Given the description of an element on the screen output the (x, y) to click on. 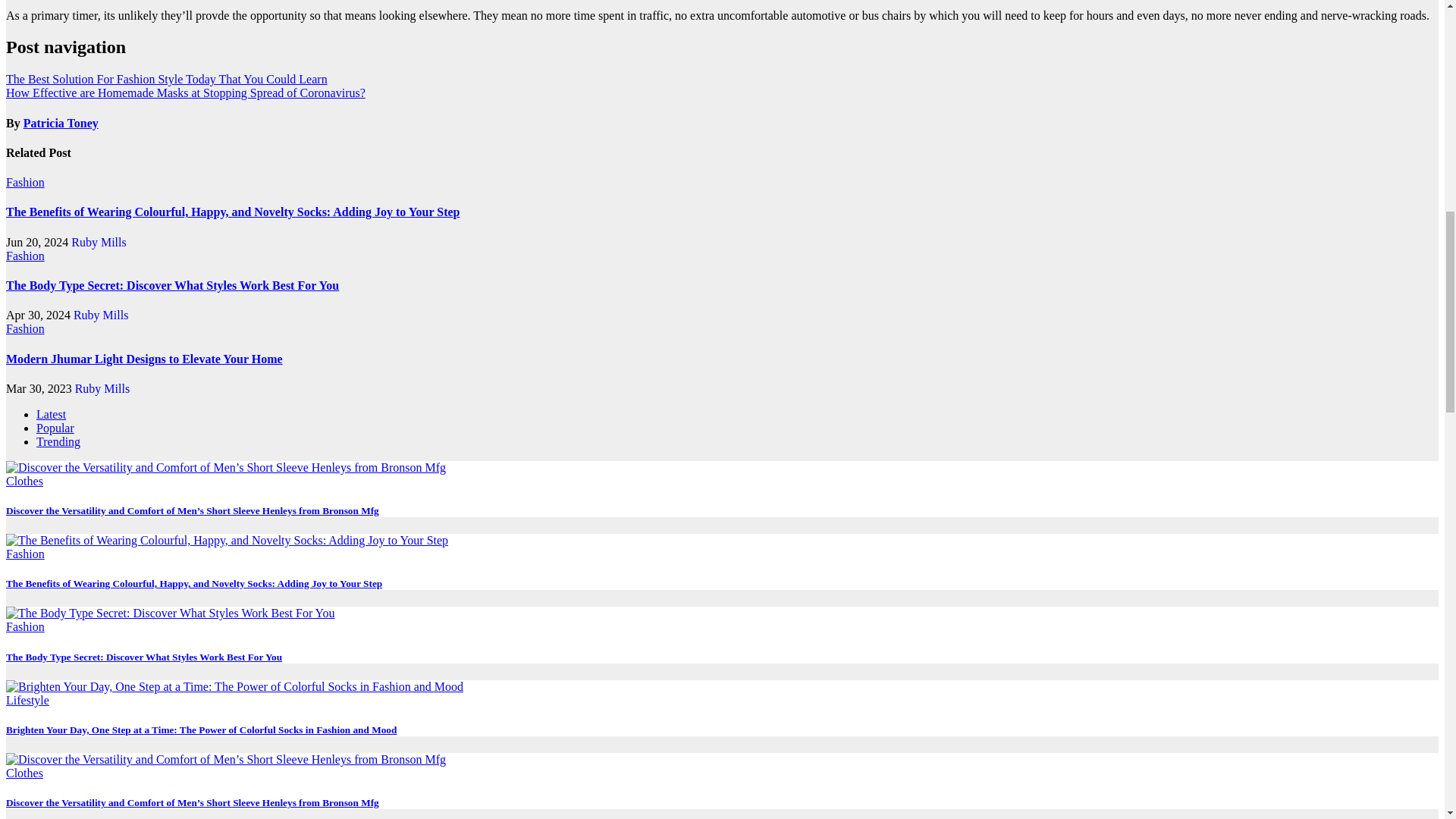
Patricia Toney (61, 123)
Ruby Mills (98, 241)
Ruby Mills (101, 314)
Fashion (25, 182)
Fashion (25, 255)
The Body Type Secret: Discover What Styles Work Best For You (172, 285)
